Given the description of an element on the screen output the (x, y) to click on. 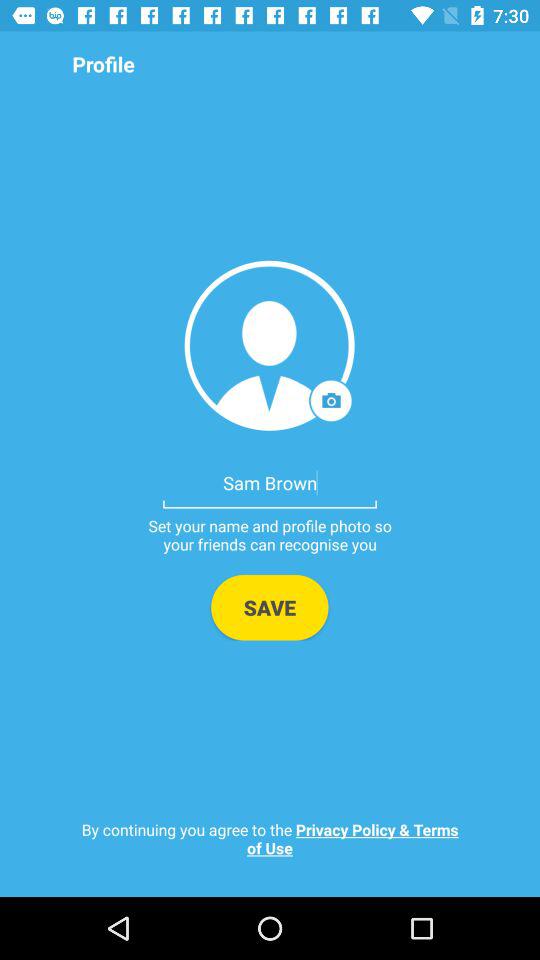
button to set a profile photo (269, 345)
